Given the description of an element on the screen output the (x, y) to click on. 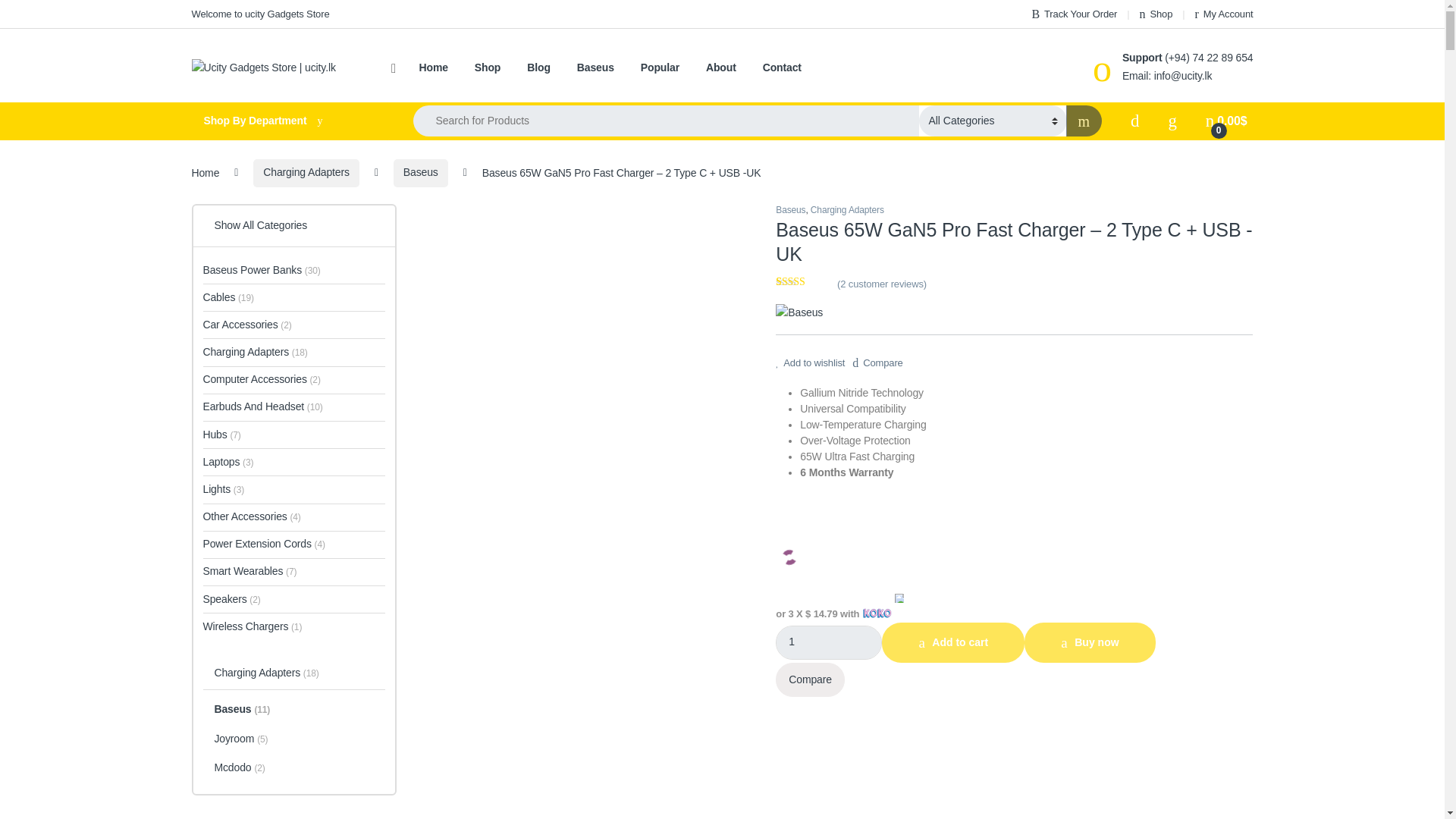
Welcome to ucity Gadgets Store (259, 13)
Track Your Order (1073, 13)
Shop (1156, 13)
1 (829, 642)
Welcome to ucity Gadgets Store (259, 13)
Shop By Department (287, 121)
My Account (1224, 13)
Popular (659, 67)
Track Your Order (1073, 13)
Shop (1156, 13)
